Given the description of an element on the screen output the (x, y) to click on. 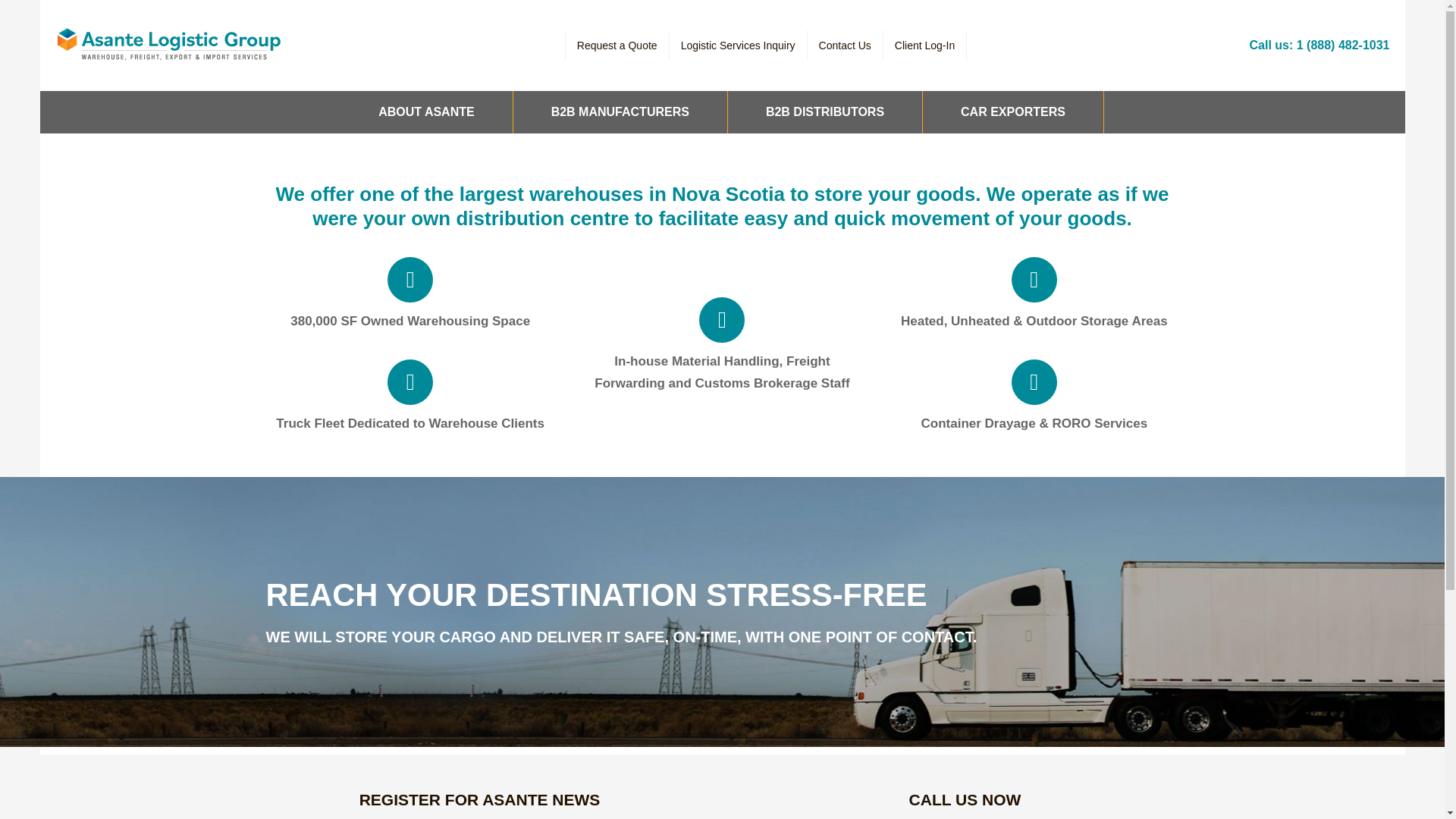
Contact Us Element type: text (844, 45)
Request a Quote Element type: text (616, 45)
B2B MANUFACTURERS Element type: text (620, 112)
CAR EXPORTERS Element type: text (1013, 112)
Asante Logistic Group Element type: hover (168, 45)
Client Log-In Element type: text (924, 45)
Call us: 1 (888) 482-1031 Element type: text (1319, 45)
ABOUT ASANTE Element type: text (426, 112)
Logistic Services Inquiry Element type: text (737, 45)
B2B DISTRIBUTORS Element type: text (825, 112)
